Given the description of an element on the screen output the (x, y) to click on. 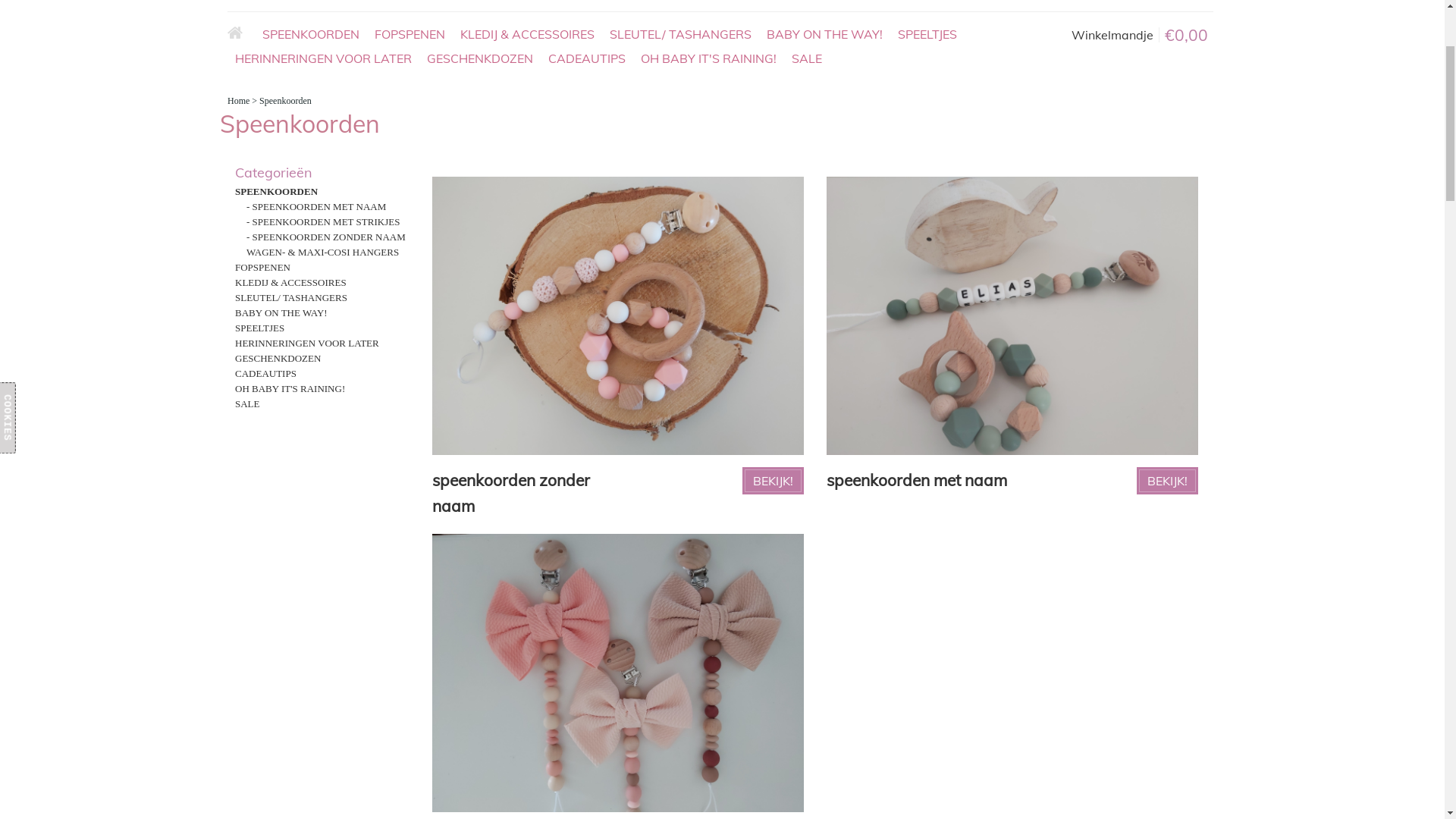
SPEENKOORDEN Element type: text (276, 376)
CADEAUTIPS Element type: text (586, 244)
BEKIJK! Element type: text (1167, 666)
Speenkoorden Element type: text (285, 286)
BEKIJK! Element type: text (772, 666)
Zoeken Element type: hover (1201, 41)
OH BABY IT'S RAINING! Element type: text (708, 244)
HOME Element type: text (240, 219)
AFREKENEN Element type: text (1186, 97)
INLOGGEN Element type: text (1120, 74)
WAGEN- & MAXI-COSI HANGERS Element type: text (322, 437)
SALE Element type: text (806, 244)
HERINNERINGEN VOOR LATER Element type: text (307, 528)
REGISTREREN Element type: text (1182, 74)
SPEELTJES Element type: text (927, 219)
OH BABY IT'S RAINING! Element type: text (290, 574)
BABY ON THE WAY! Element type: text (824, 219)
WINKELWAGEN Element type: text (1098, 97)
speenkoorden met naam Element type: text (916, 665)
HERINNERINGEN VOOR LATER Element type: text (323, 244)
KLEDIJ & ACCESSOIRES Element type: text (290, 467)
VERLANGLIJST (0) Element type: text (904, 97)
GESCHENKDOZEN Element type: text (479, 244)
MIJN ACCOUNT Element type: text (1003, 97)
speenkoorden zonder naam Element type: text (510, 678)
FOPSPENEN Element type: text (409, 219)
SLEUTEL/ TASHANGERS Element type: text (291, 483)
SPEENKOORDEN Element type: text (310, 219)
SALE Element type: text (247, 589)
Home Element type: text (238, 286)
GESCHENKDOZEN Element type: text (277, 543)
FOPSPENEN Element type: text (262, 452)
KLEDIJ & ACCESSOIRES Element type: text (527, 219)
- SPEENKOORDEN MET NAAM Element type: text (315, 392)
CADEAUTIPS Element type: text (265, 558)
SLEUTEL/ TASHANGERS Element type: text (680, 219)
- SPEENKOORDEN MET STRIKJES Element type: text (322, 407)
BABY ON THE WAY! Element type: text (281, 498)
- SPEENKOORDEN ZONDER NAAM Element type: text (325, 422)
SPEELTJES Element type: text (259, 513)
Baby Pastel Element type: hover (286, 90)
